Given the description of an element on the screen output the (x, y) to click on. 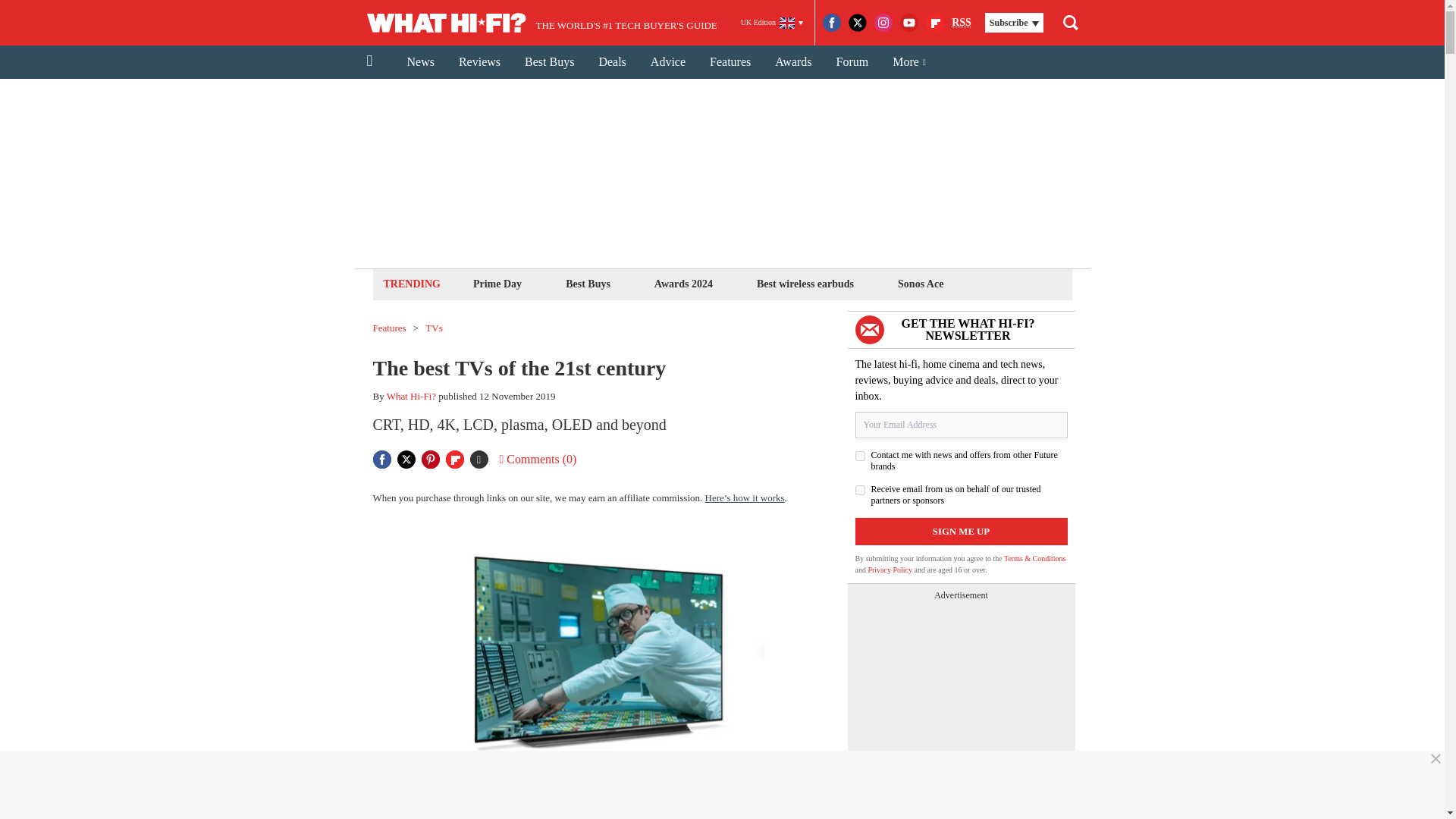
UK Edition (771, 22)
Really Simple Syndication (961, 21)
RSS (961, 22)
Sign me up (961, 531)
Forum (852, 61)
News (419, 61)
Features (389, 327)
Best wireless earbuds (805, 283)
Sonos Ace (920, 283)
Deals (611, 61)
on (860, 456)
What Hi-Fi? (411, 396)
